Given the description of an element on the screen output the (x, y) to click on. 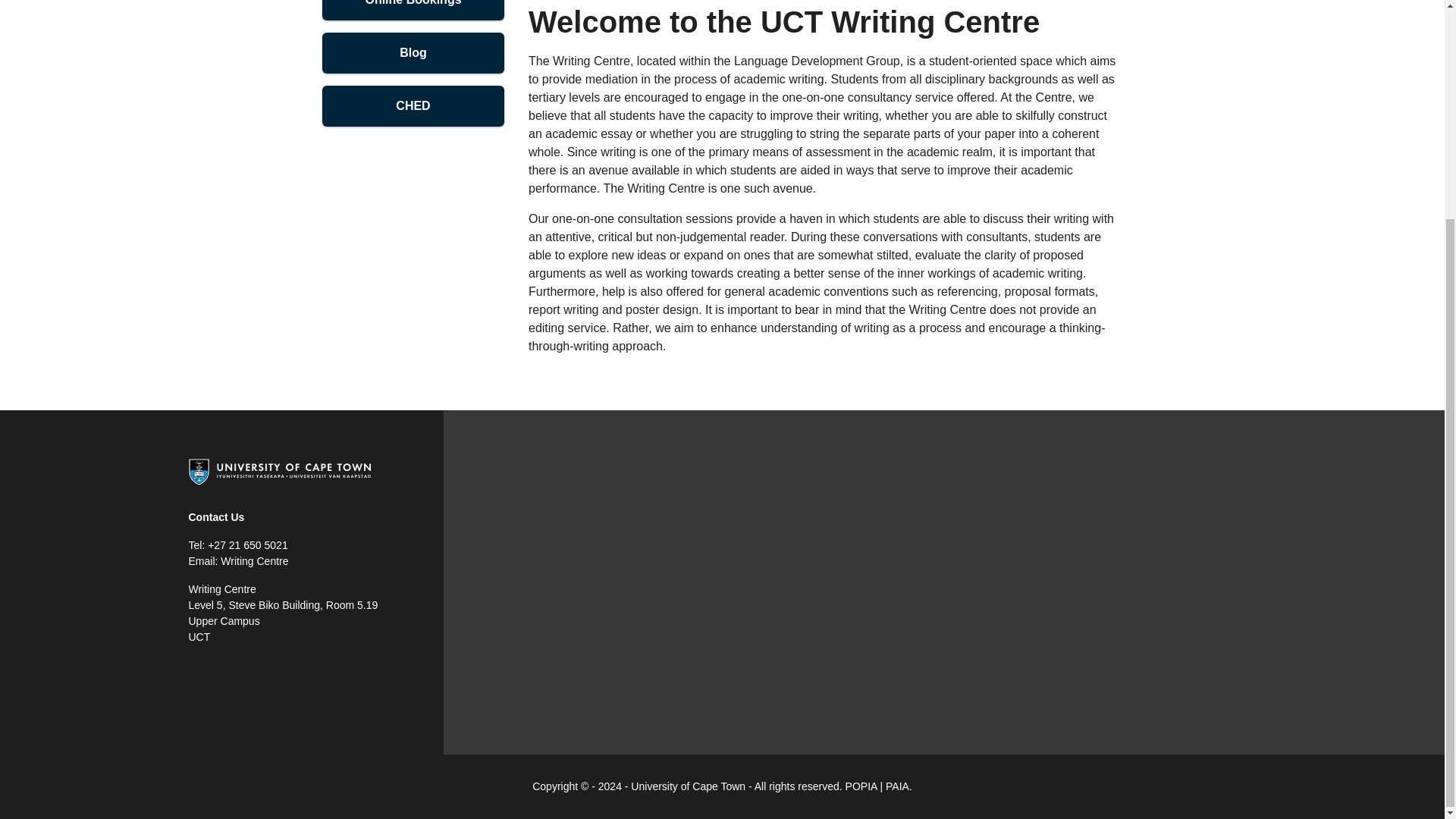
Online Bookings (412, 10)
Writing Centre (254, 561)
Blog (412, 52)
CHED (412, 105)
